Given the description of an element on the screen output the (x, y) to click on. 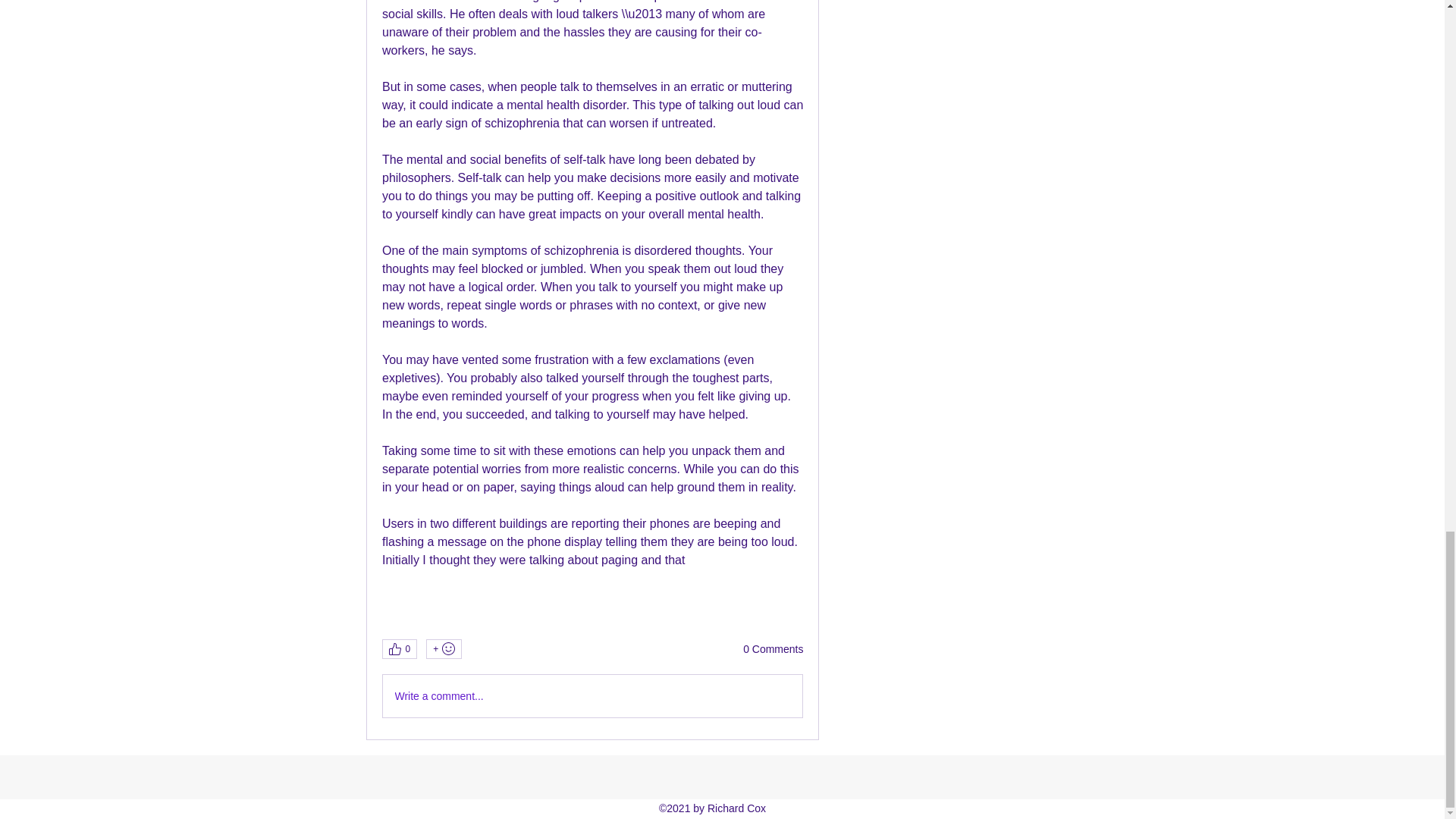
Write a comment... (591, 695)
0 Comments (772, 649)
